Given the description of an element on the screen output the (x, y) to click on. 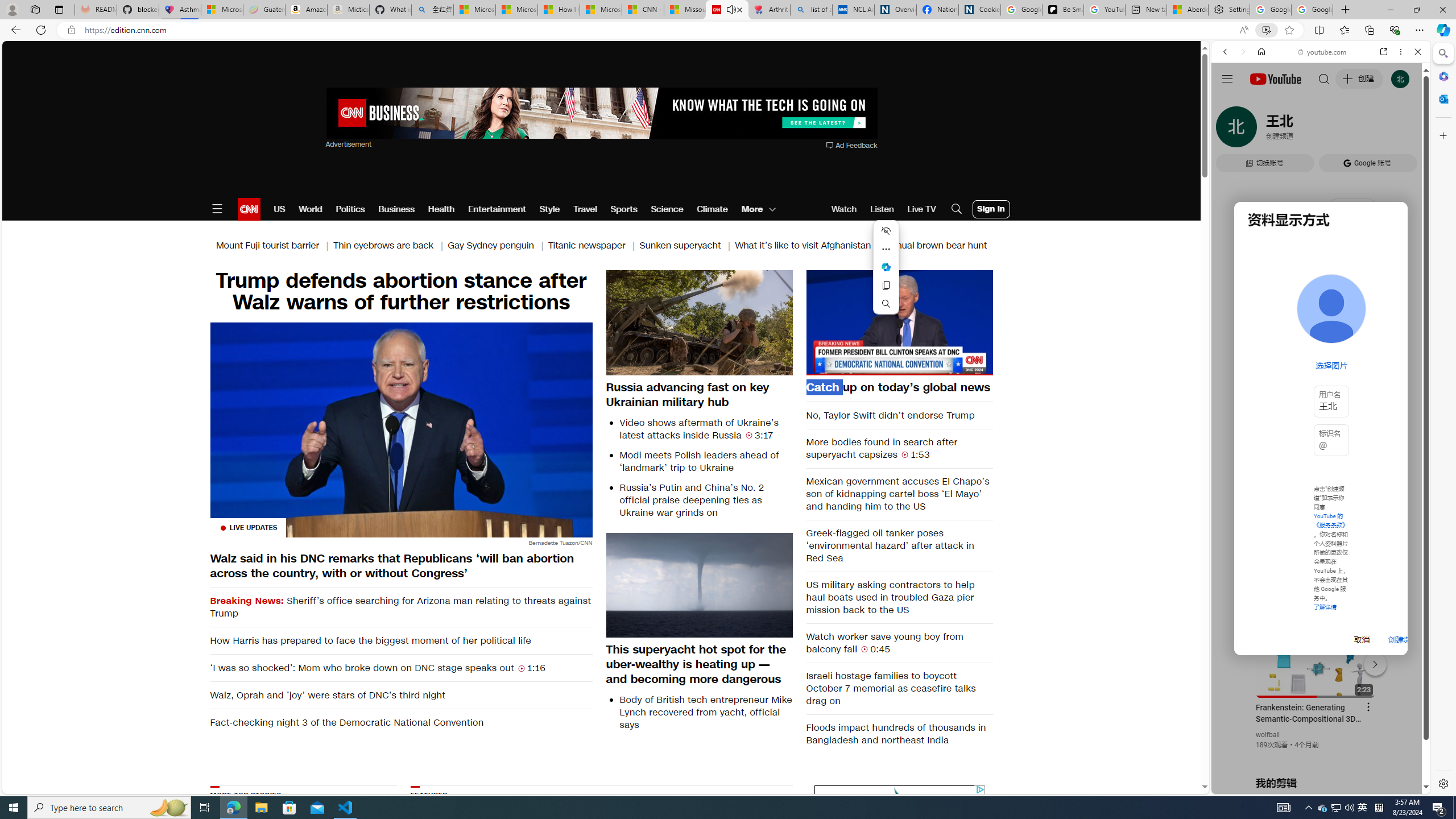
Sunken superyacht | (687, 245)
Gay Sydney penguin | (497, 245)
you (1315, 755)
CNN - MSN (642, 9)
